Given the description of an element on the screen output the (x, y) to click on. 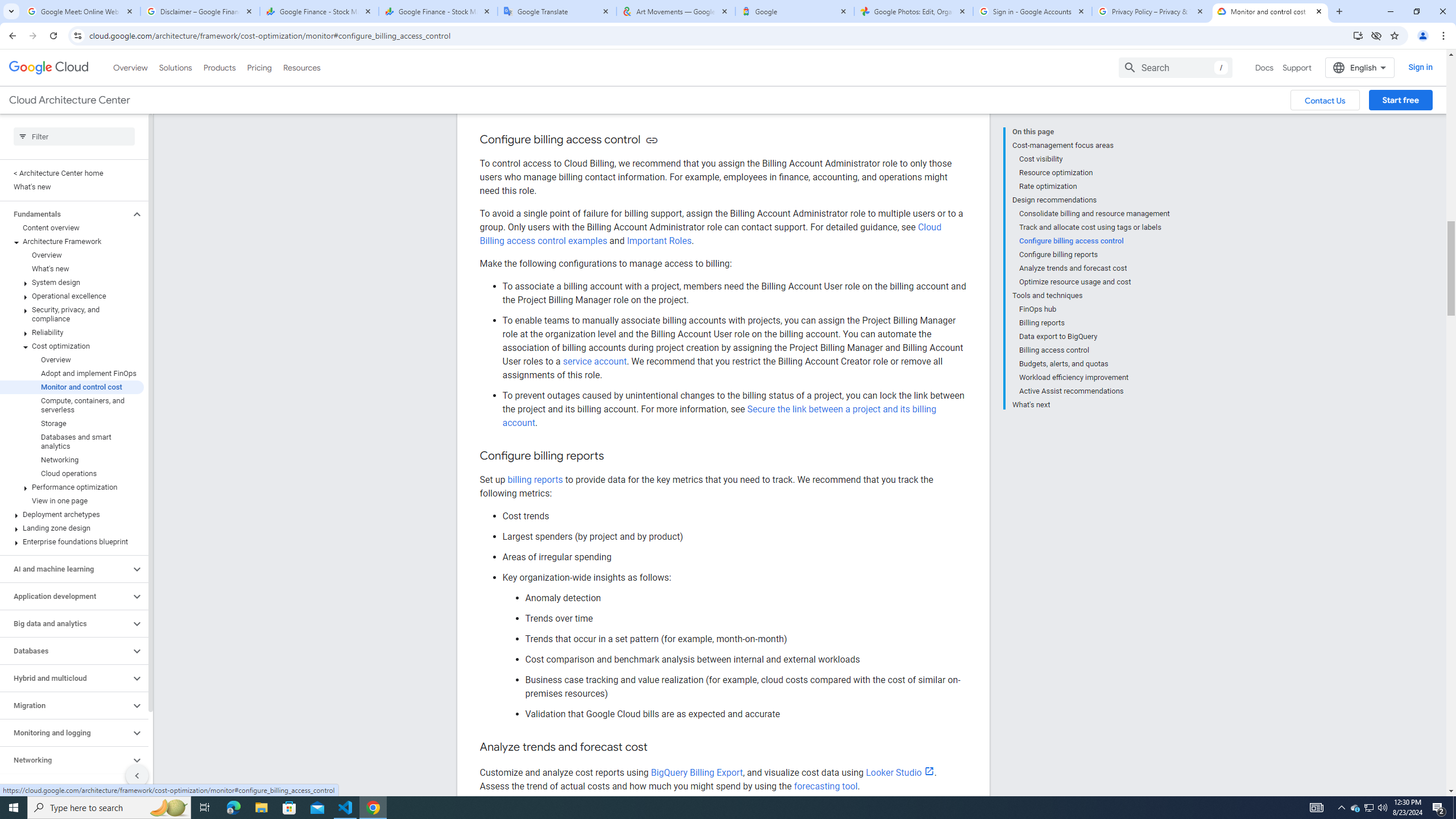
Billing access control (1094, 350)
Sign in - Google Accounts (1032, 11)
Workload efficiency improvement (1094, 377)
Compute, containers, and serverless (72, 404)
Design recommendations (1090, 200)
Storage (72, 423)
Networking (64, 760)
< Architecture Center home (72, 173)
Pricing (259, 67)
Copy link to this section: Configure billing reports (614, 456)
service account (594, 361)
Monitor and control cost (72, 386)
